Given the description of an element on the screen output the (x, y) to click on. 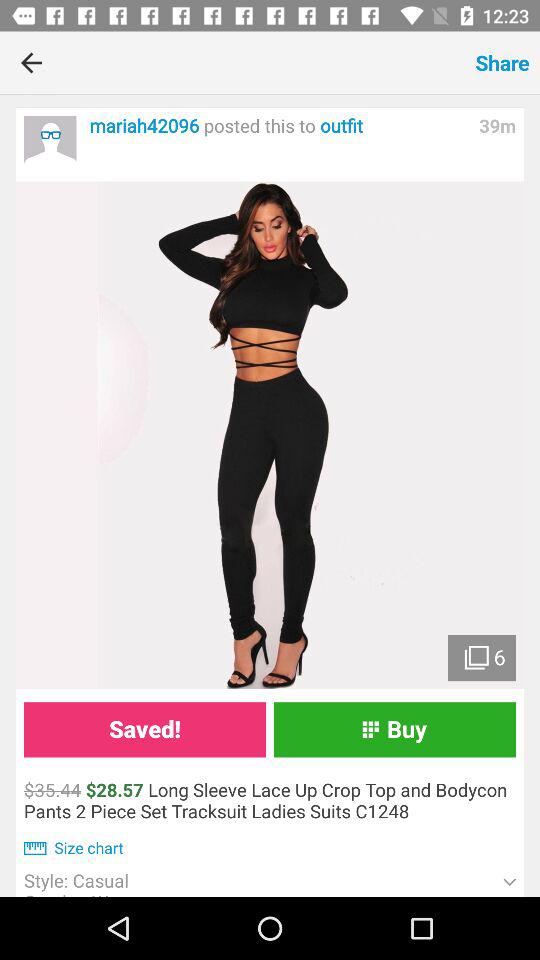
press the item at the center (269, 435)
